Given the description of an element on the screen output the (x, y) to click on. 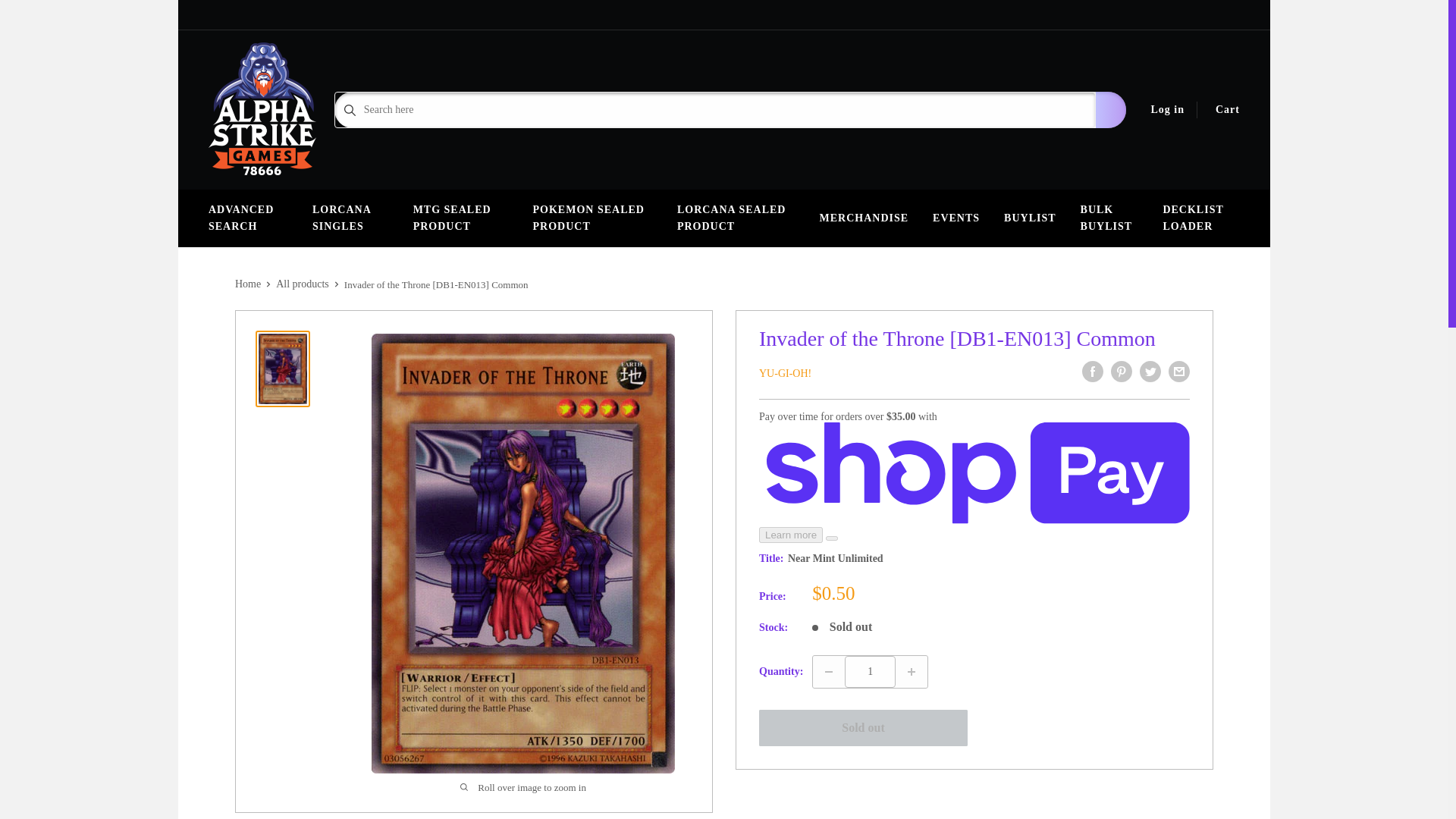
BULK BUYLIST (1109, 218)
All products (302, 283)
Log in (1164, 109)
Home (247, 283)
YU-GI-OH! (784, 373)
Cart (1224, 109)
Decrease quantity by 1 (828, 671)
DECKLIST LOADER (1201, 218)
MERCHANDISE (863, 218)
LORCANA SINGLES (350, 218)
